Given the description of an element on the screen output the (x, y) to click on. 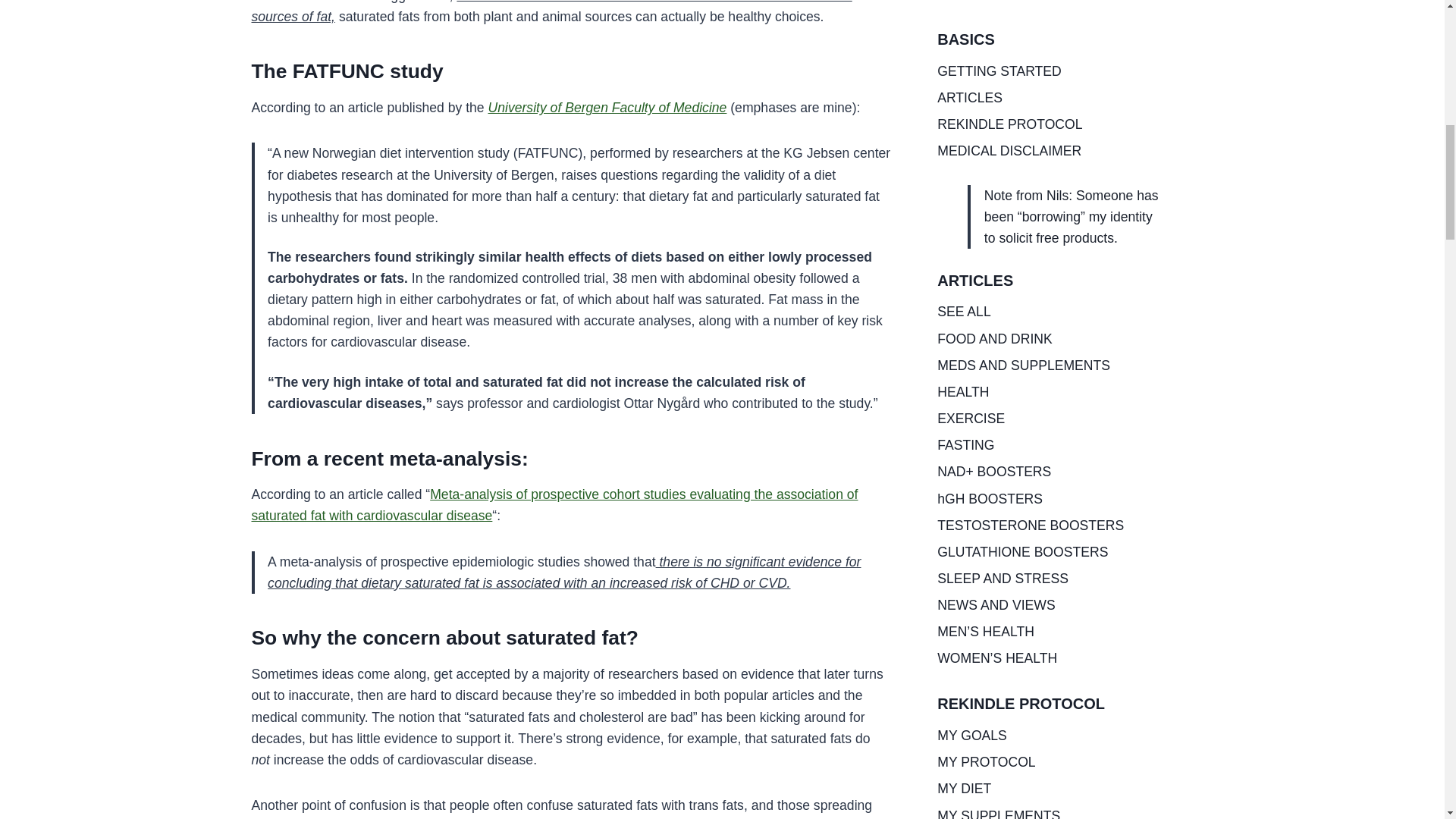
University of Bergen Faculty of Medicine (606, 107)
